Given the description of an element on the screen output the (x, y) to click on. 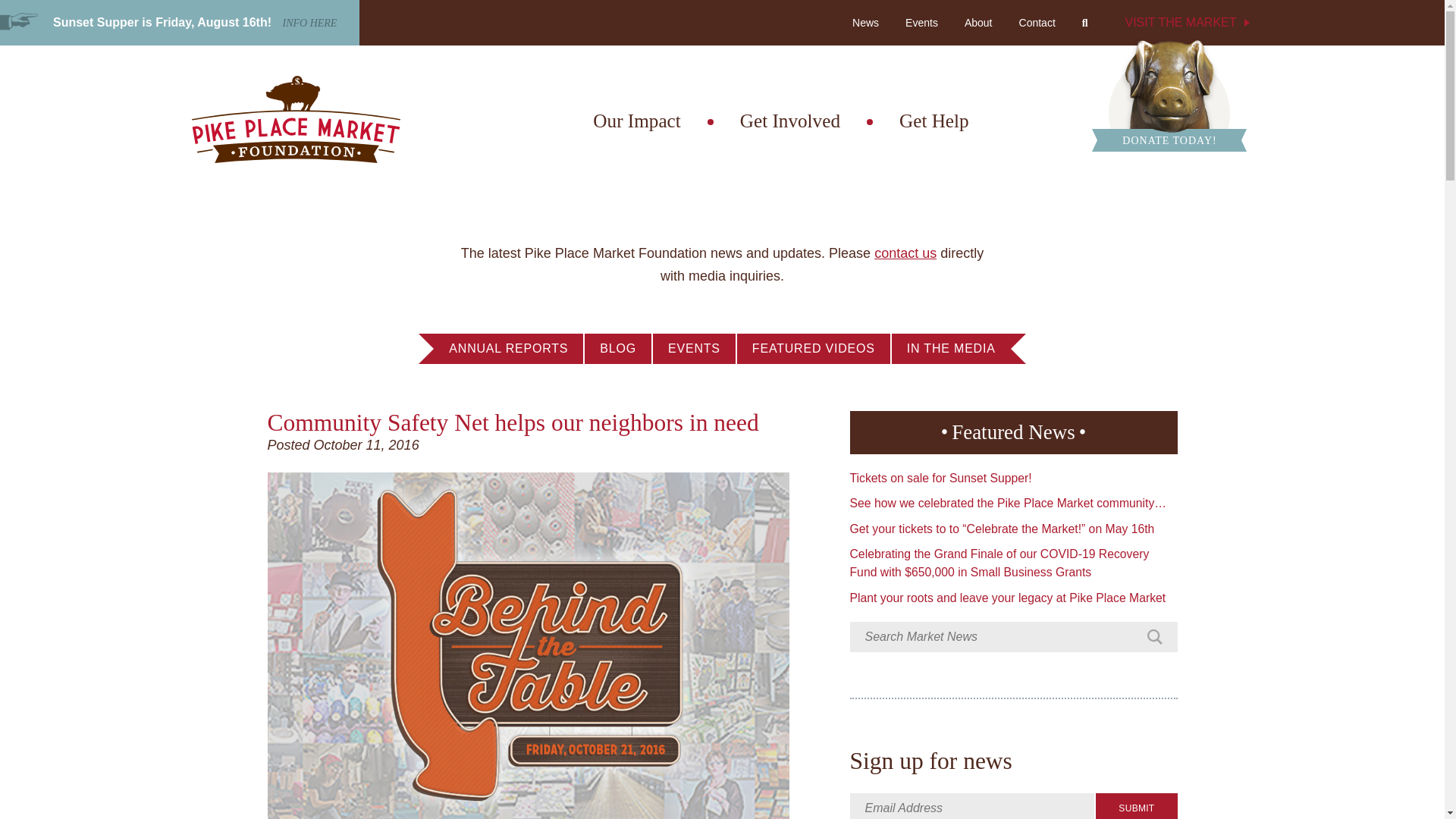
News (896, 15)
Events (951, 15)
About (978, 22)
News (865, 22)
Get Involved (789, 120)
Contact (1037, 22)
VISIT THE MARKET (1182, 22)
Get Help (933, 120)
DONATE TODAY! (1169, 94)
INFO HERE (309, 22)
